Given the description of an element on the screen output the (x, y) to click on. 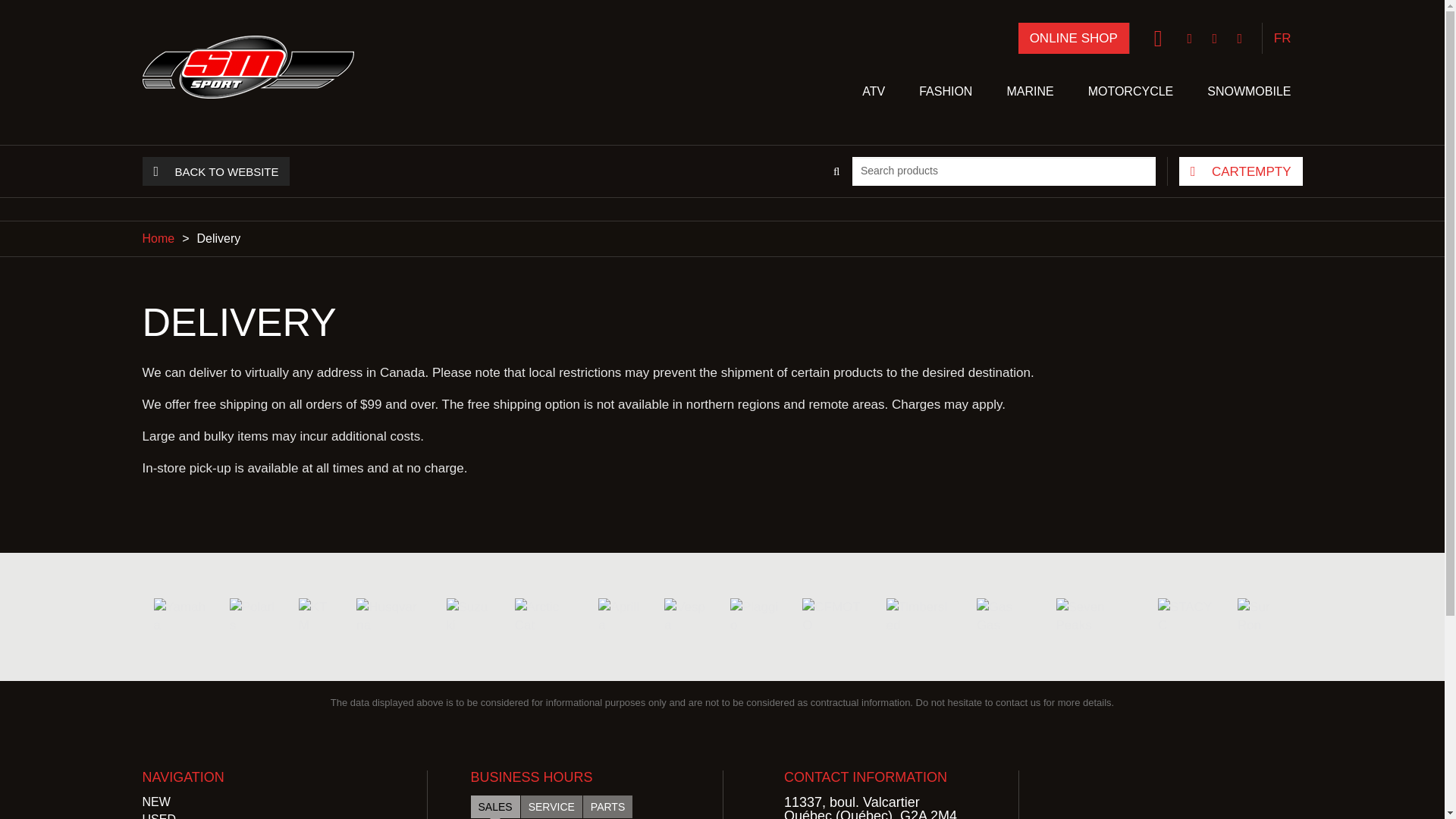
Piaggio (754, 616)
Arctic Cat (545, 616)
Vespa (685, 616)
ATV (873, 92)
SM Sport (247, 66)
Home (158, 238)
KTM (316, 616)
Ebay (1157, 38)
Suzuki (469, 616)
Husqvarna (389, 616)
Aprilia (620, 616)
Polaris (253, 616)
Yamaha (179, 616)
View your shopping cart (1241, 171)
